Given the description of an element on the screen output the (x, y) to click on. 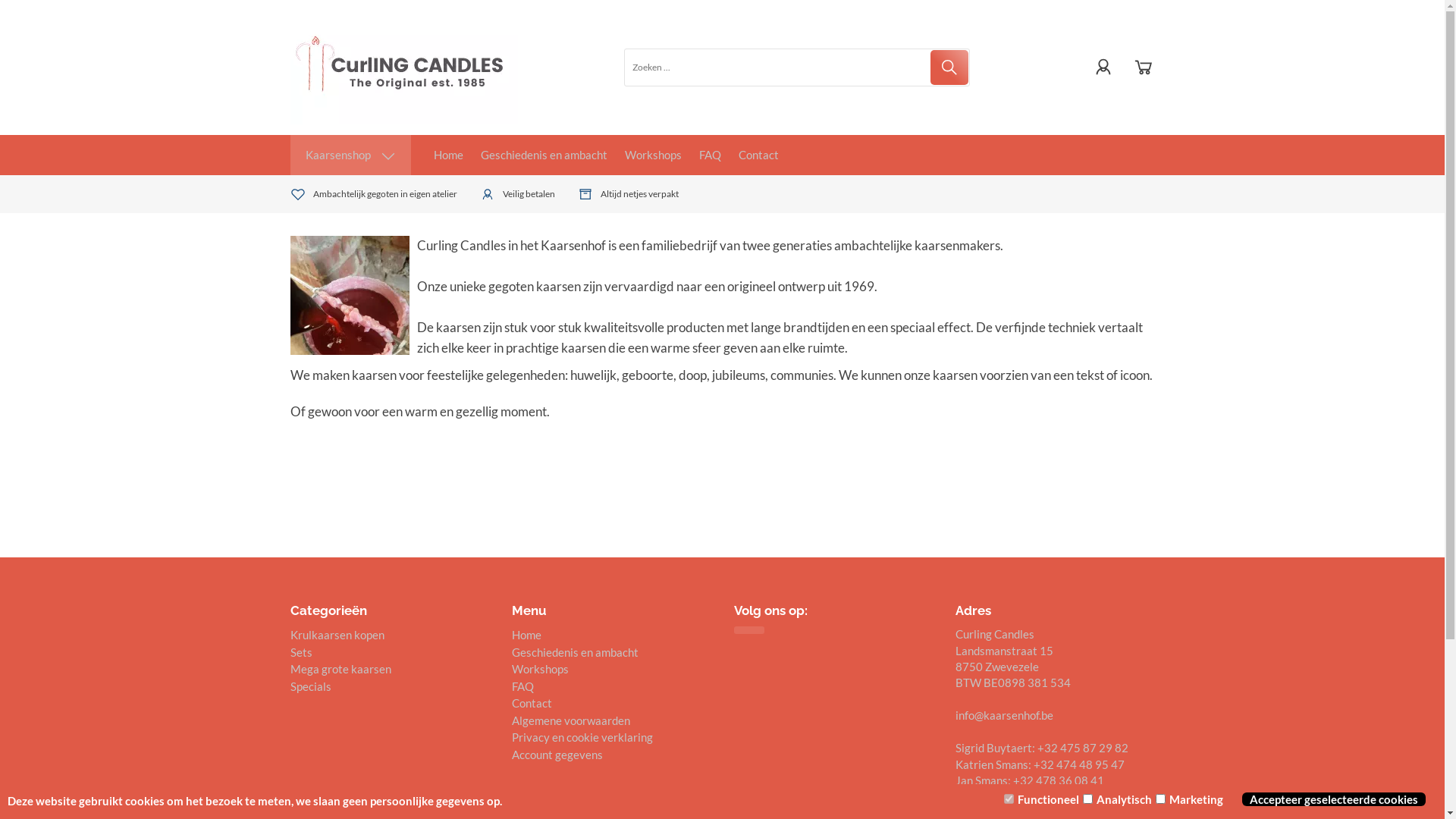
Geschiedenis en ambacht Element type: text (574, 651)
Workshops Element type: text (539, 668)
Contact Element type: text (531, 702)
Zoeken Element type: hover (949, 67)
FAQ Element type: text (522, 686)
Contact Element type: text (758, 154)
Sets Element type: text (300, 651)
Account gegevens Element type: text (556, 754)
FAQ Element type: text (709, 154)
Specials Element type: text (309, 686)
Privacy en cookie verklaring Element type: text (581, 736)
Winkelwagen Element type: hover (1142, 66)
Workshops Element type: text (653, 154)
info@kaarsenhof.be Element type: text (1004, 714)
Mega grote kaarsen Element type: text (339, 668)
Geschiedenis en ambacht Element type: text (544, 154)
Accepteer geselecteerde cookies Element type: text (1339, 799)
Home Element type: text (526, 634)
Algemene voorwaarden Element type: text (570, 720)
Krulkaarsen kopen Element type: text (336, 634)
Home Element type: text (448, 154)
